Given the description of an element on the screen output the (x, y) to click on. 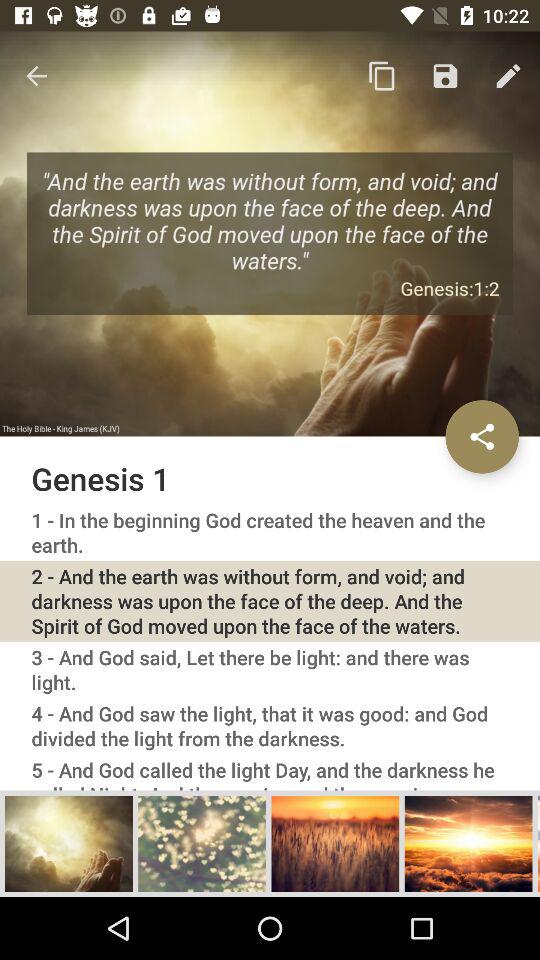
picture (202, 843)
